Given the description of an element on the screen output the (x, y) to click on. 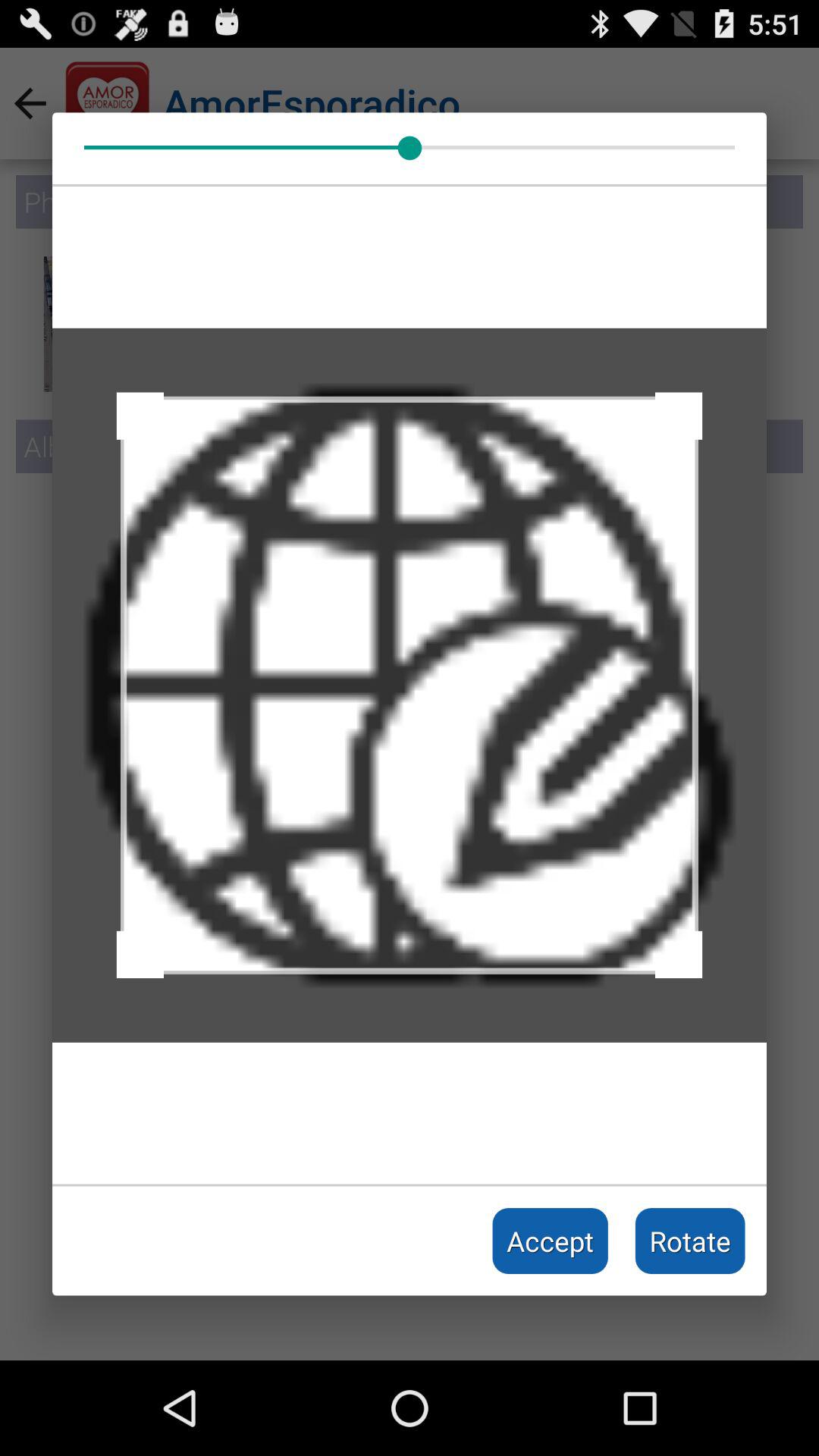
click accept item (549, 1240)
